Given the description of an element on the screen output the (x, y) to click on. 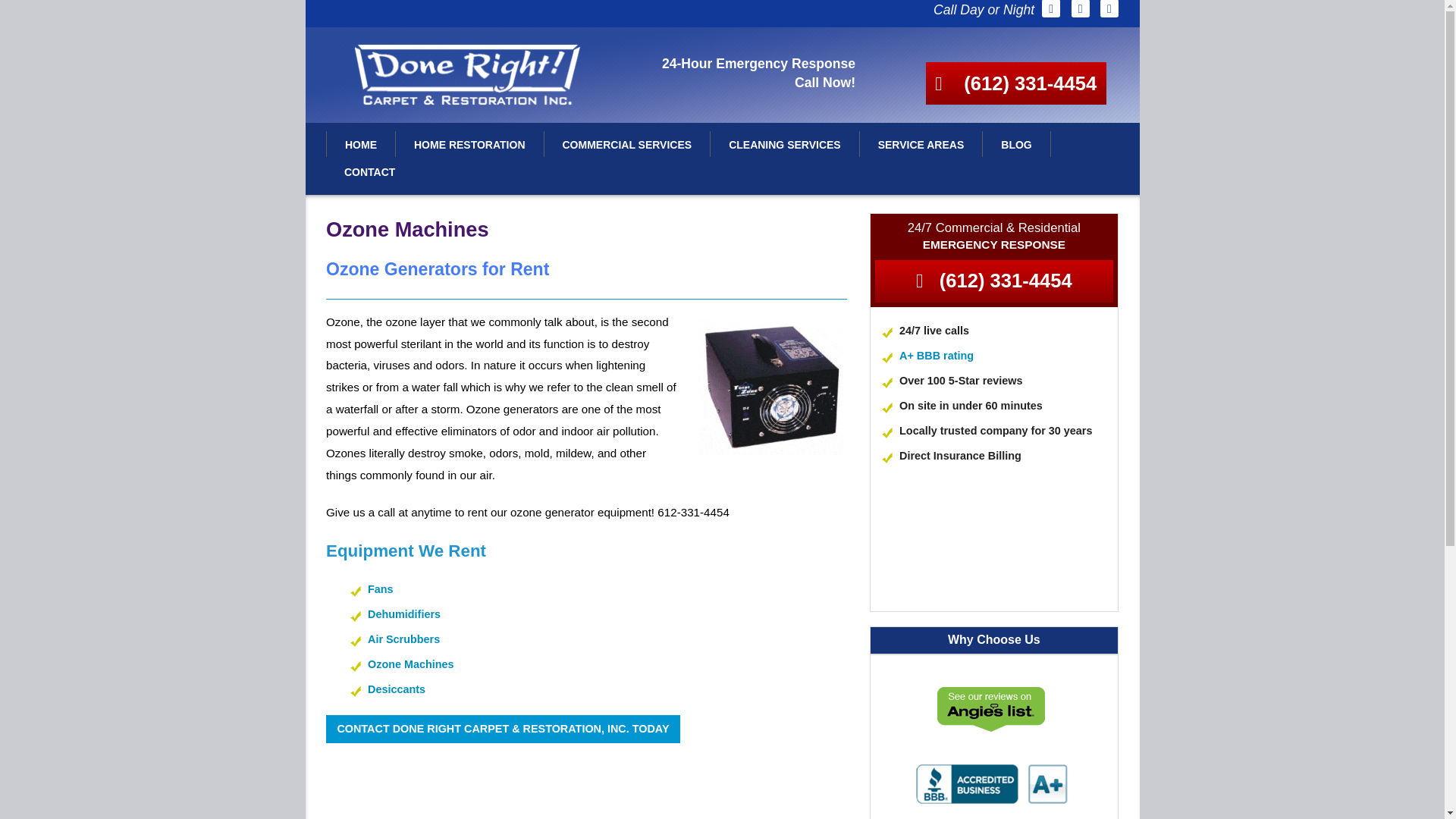
SERVICE AREAS (921, 144)
Carpet Cleaning (784, 198)
Water Damage Repairs (469, 226)
Commercial Water Restoration (627, 171)
Mold Removal (469, 390)
Flood Damage Cleanup (469, 253)
Fire Damage Restoration (469, 335)
Smoke Damage Cleaning (469, 362)
CLEANING SERVICES (784, 144)
St. Paul (921, 198)
